Given the description of an element on the screen output the (x, y) to click on. 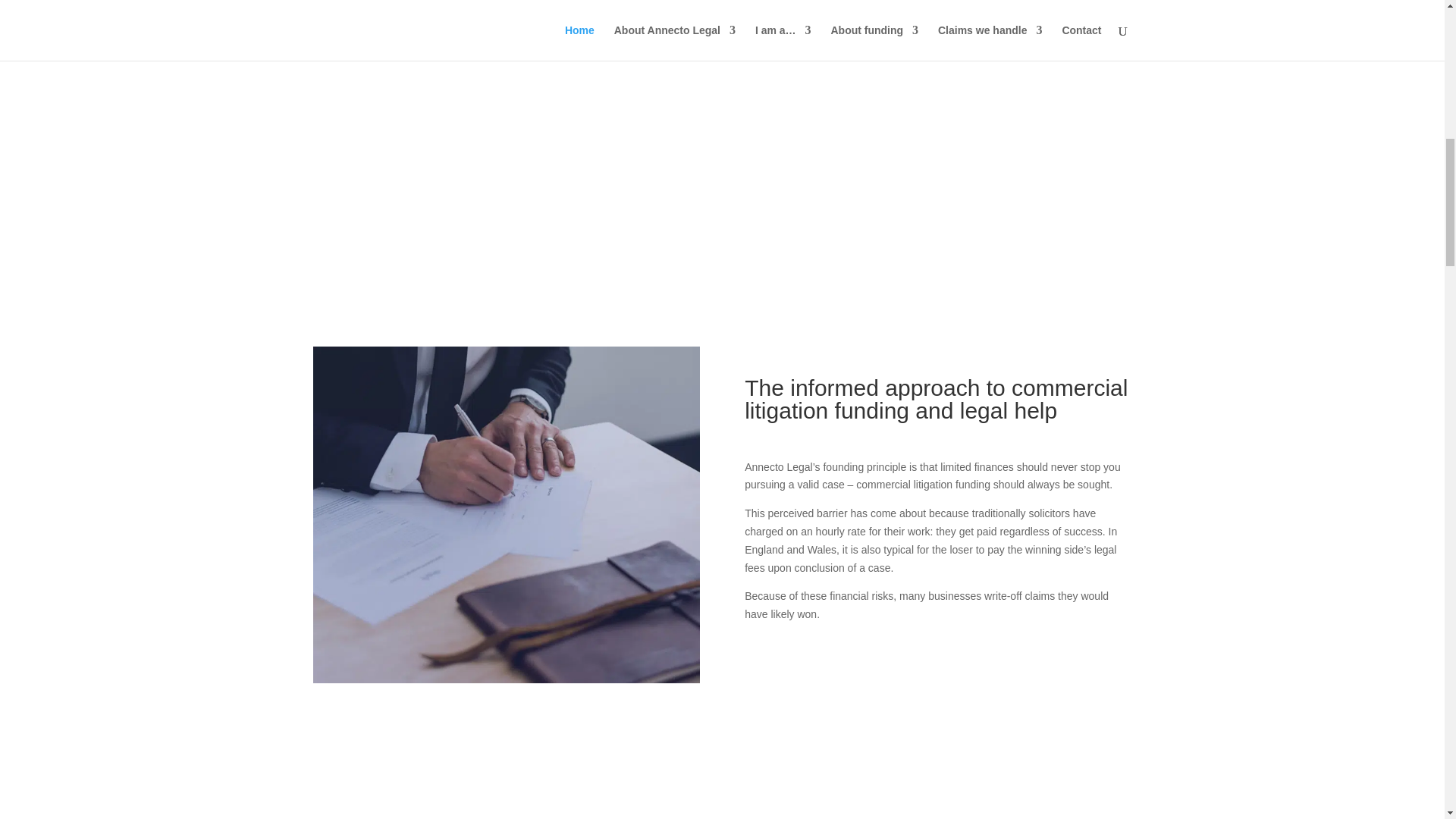
Accountant-Image-02 (505, 679)
